Given the description of an element on the screen output the (x, y) to click on. 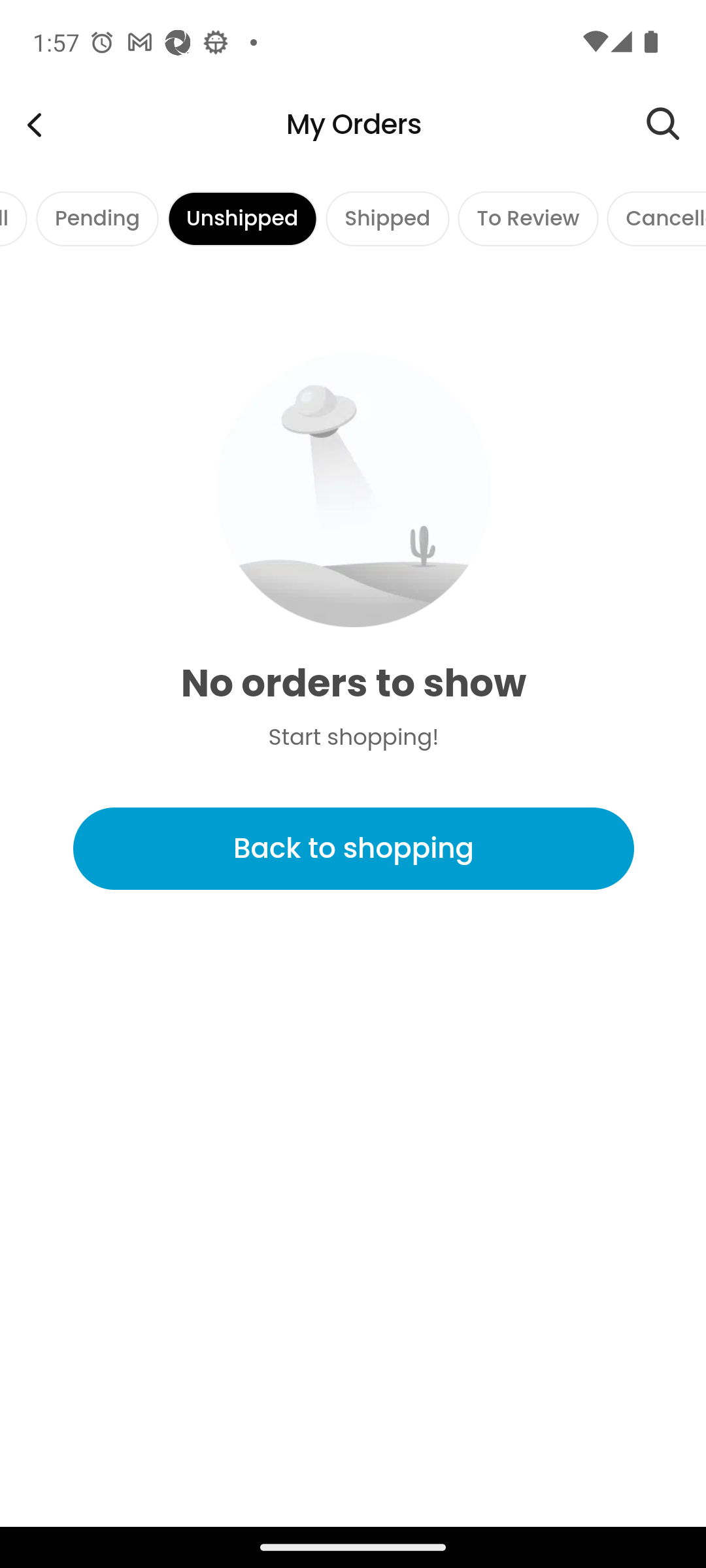
Weee! - Groceries Delivered (33, 124)
 (675, 124)
Pending (96, 218)
Unshipped (242, 218)
Shipped (387, 218)
To Review (527, 218)
Cancelled (655, 218)
Back to shopping (353, 848)
